Given the description of an element on the screen output the (x, y) to click on. 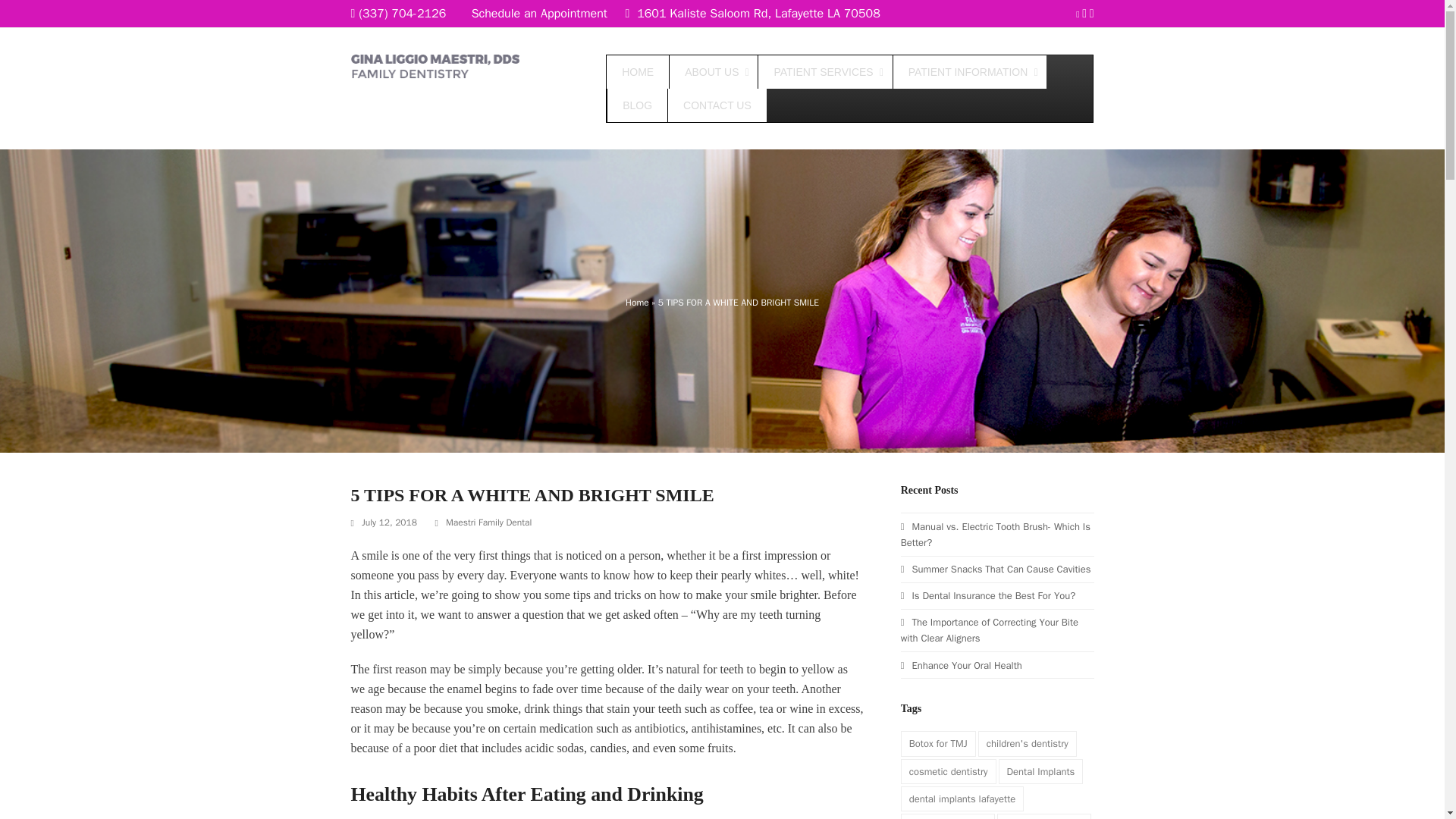
ABOUT US (712, 71)
HOME (637, 71)
PATIENT SERVICES (824, 71)
Posts by Maestri Family Dental (488, 522)
Schedule an Appointment (539, 13)
